Given the description of an element on the screen output the (x, y) to click on. 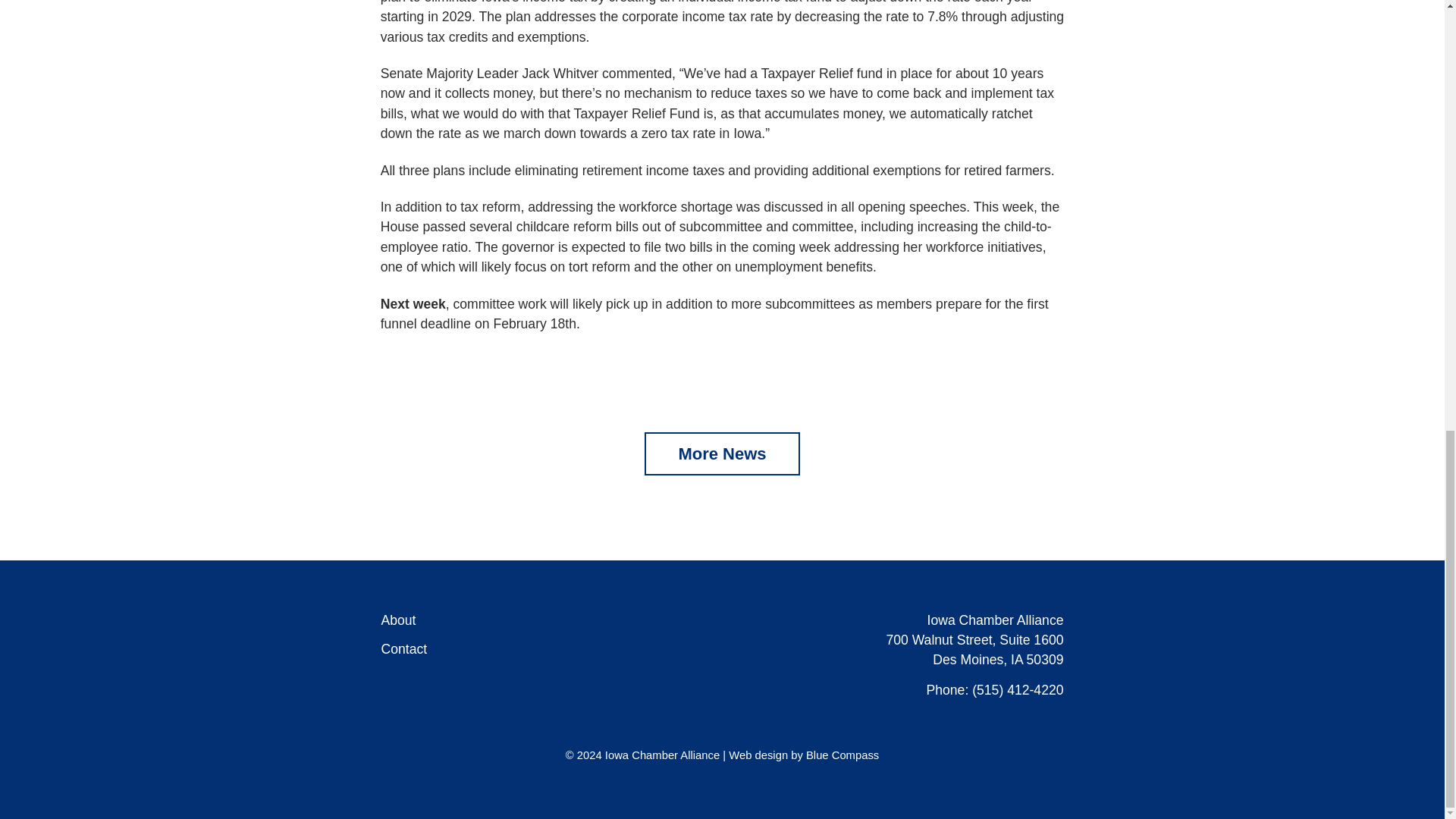
Blue Compass (842, 755)
More News (722, 453)
About (397, 621)
Contact (403, 649)
